Given the description of an element on the screen output the (x, y) to click on. 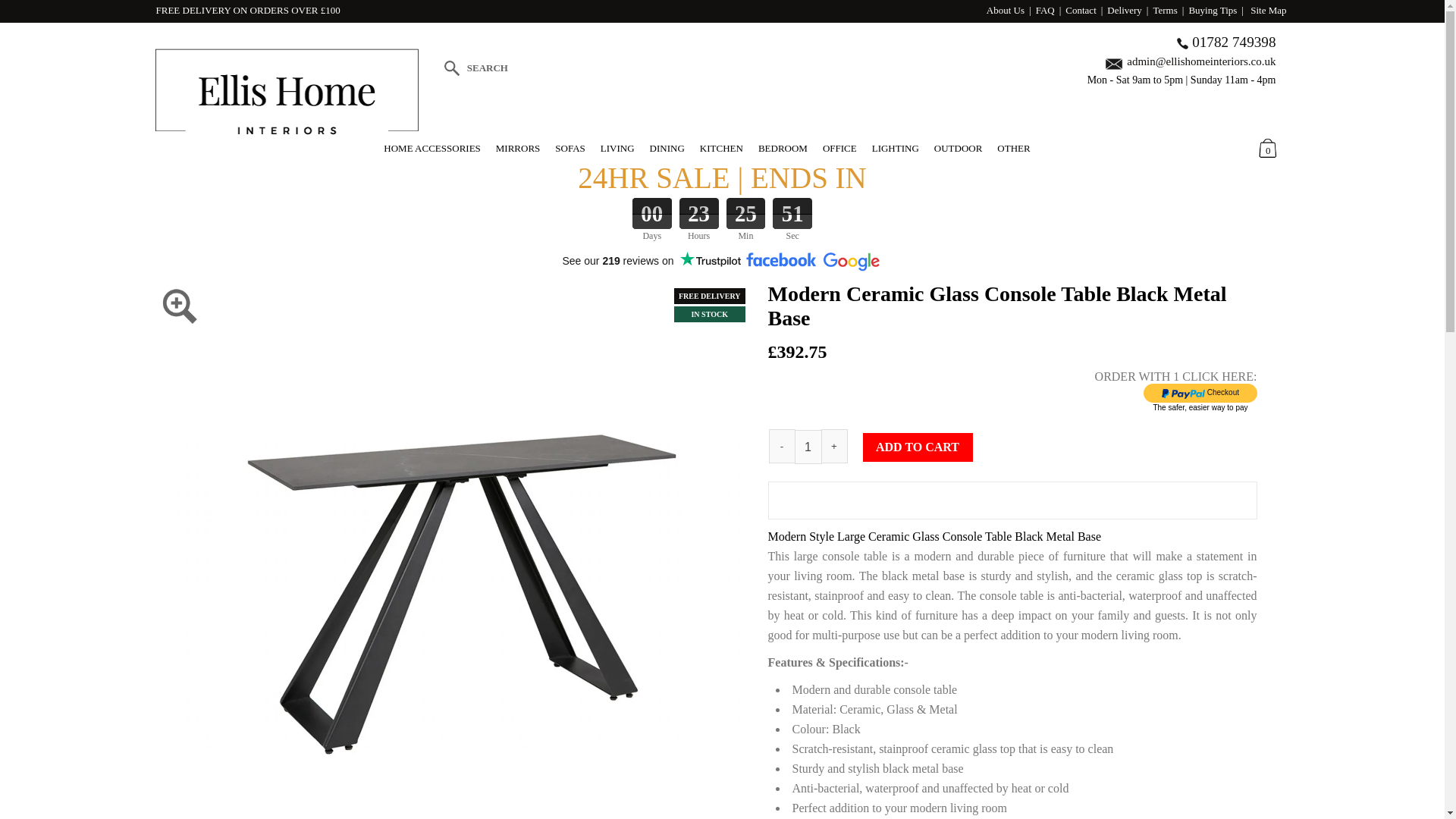
HOME ACCESSORIES (432, 147)
Site Map (1267, 9)
01782 749398 (1233, 41)
Delivery (1123, 9)
Terms (1164, 9)
Contact (1080, 9)
Modern Ceramic Glass Console Table Black Metal Base (448, 287)
Customer reviews powered by Trustpilot (651, 260)
Buying Tips (1212, 9)
FAQ (1044, 9)
About Us (1006, 9)
